Given the description of an element on the screen output the (x, y) to click on. 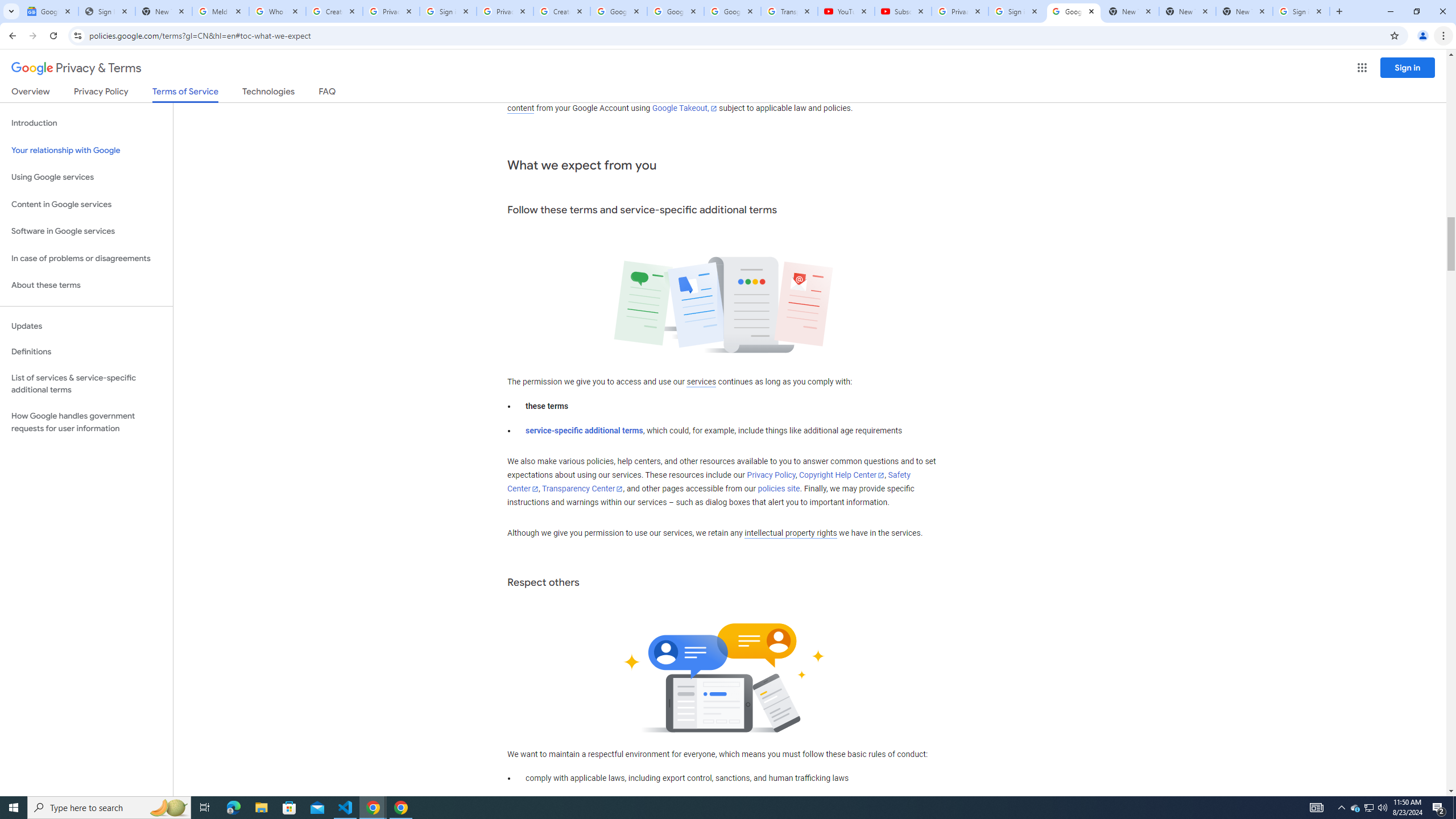
Transparency Center (582, 488)
Google Takeout, (684, 108)
In case of problems or disagreements (86, 258)
Using Google services (86, 176)
Safety Center (708, 481)
Content in Google services (86, 204)
